Given the description of an element on the screen output the (x, y) to click on. 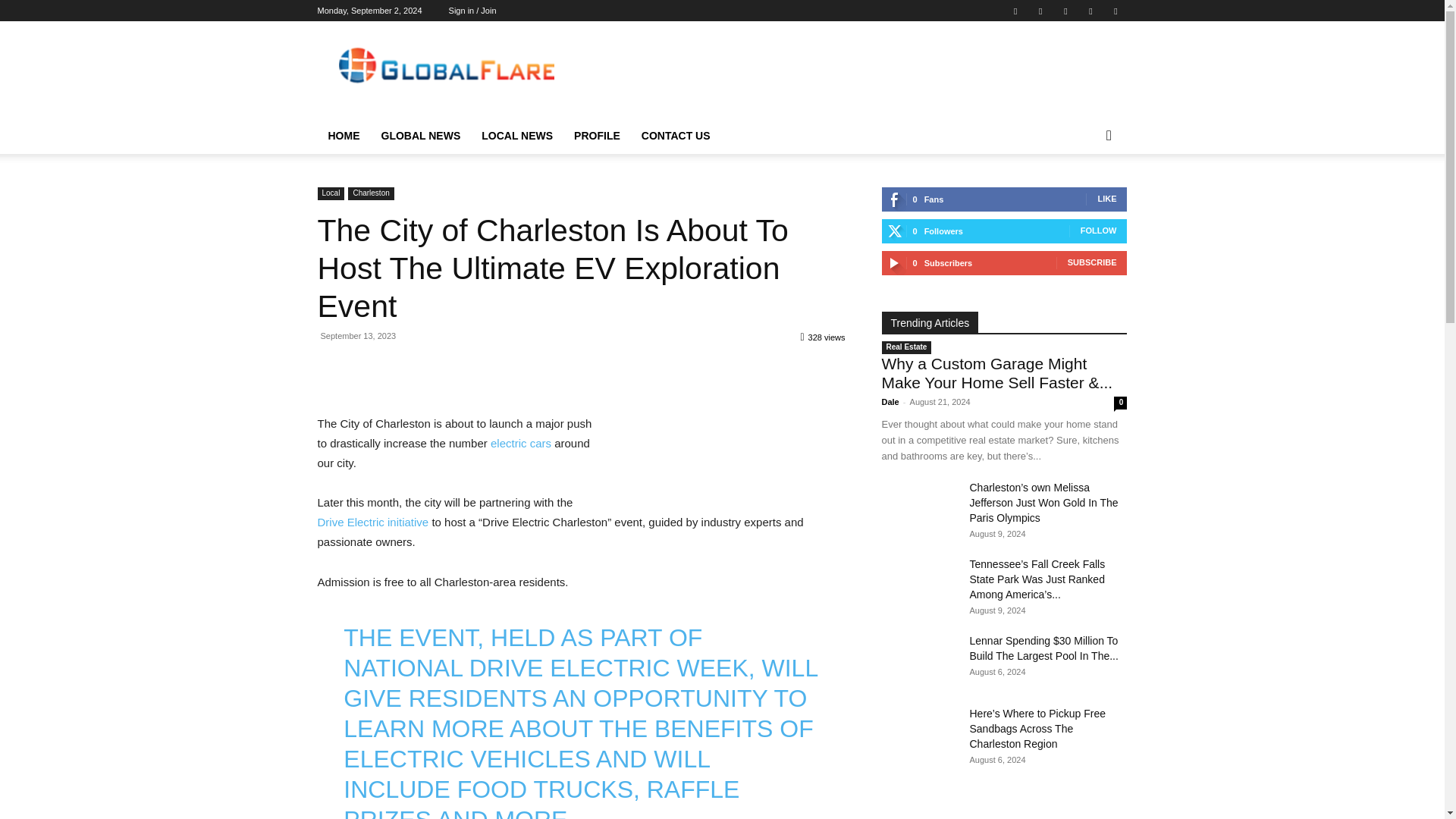
Youtube (1114, 10)
VKontakte (1090, 10)
Facebook (1015, 10)
Twitter (1040, 10)
Vimeo (1065, 10)
